Given the description of an element on the screen output the (x, y) to click on. 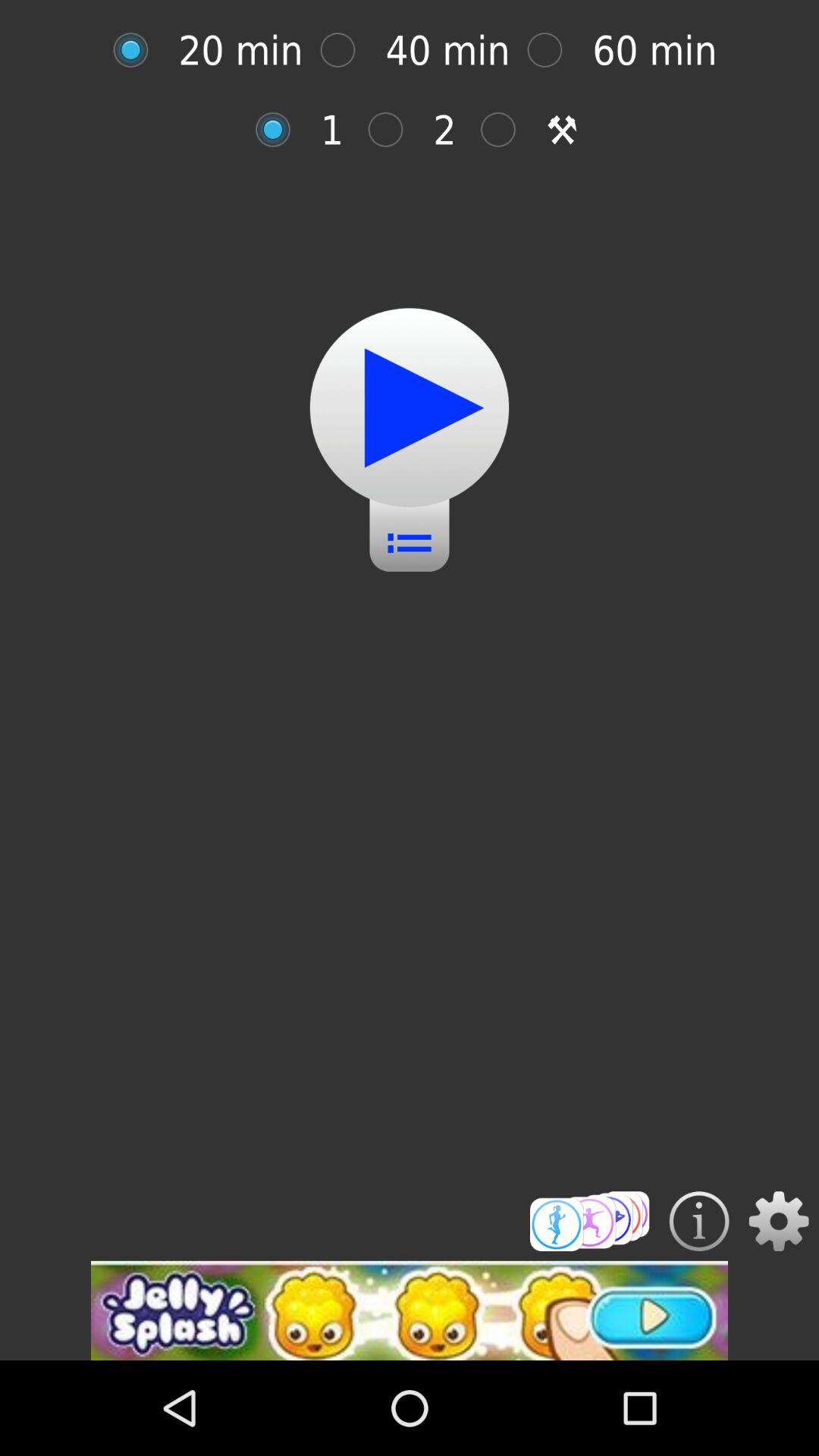
select one (280, 129)
